Given the description of an element on the screen output the (x, y) to click on. 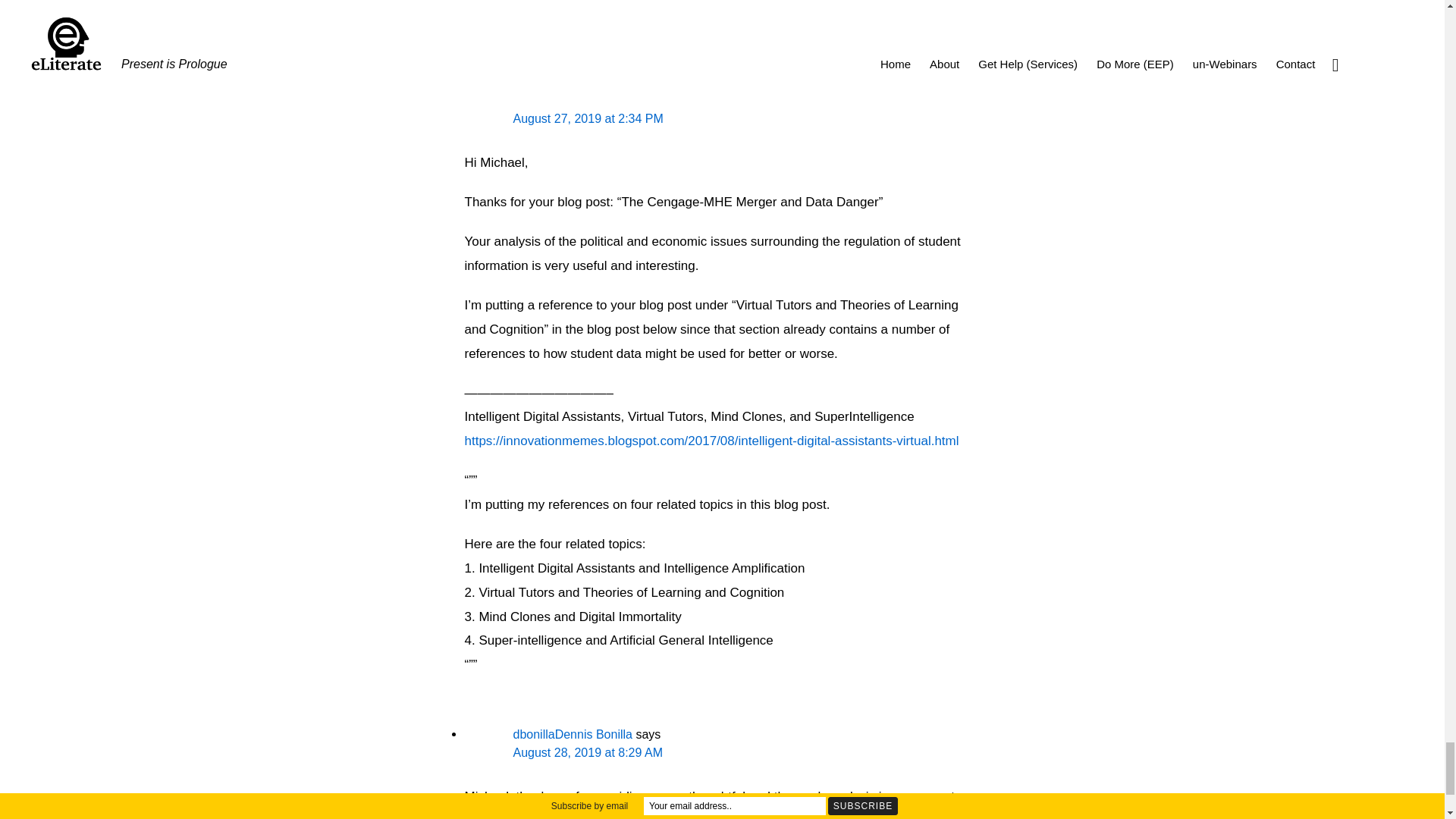
dbonillaDennis Bonilla (571, 734)
Frederick M Beshears (571, 100)
August 28, 2019 at 8:29 AM (587, 752)
August 27, 2019 at 2:34 PM (587, 118)
